Given the description of an element on the screen output the (x, y) to click on. 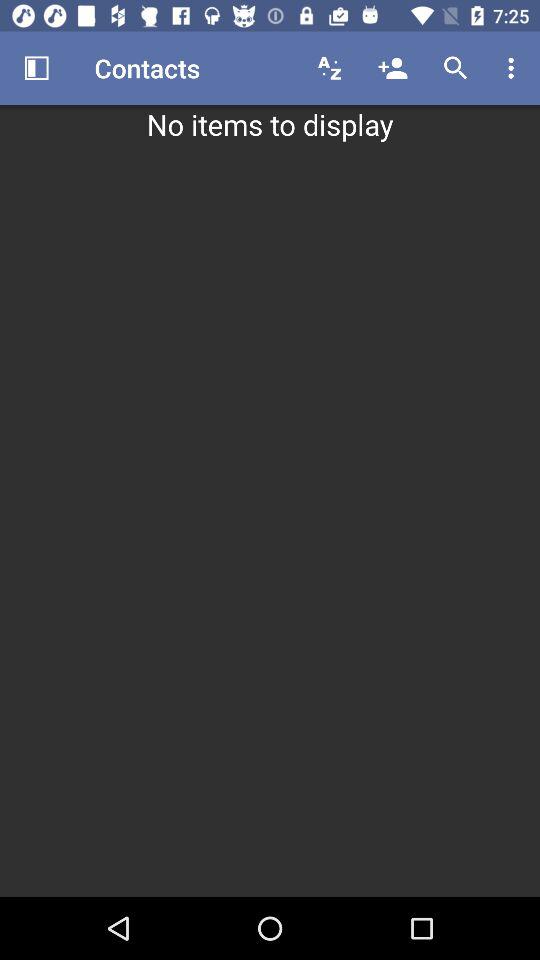
open the icon next to contacts (36, 68)
